Given the description of an element on the screen output the (x, y) to click on. 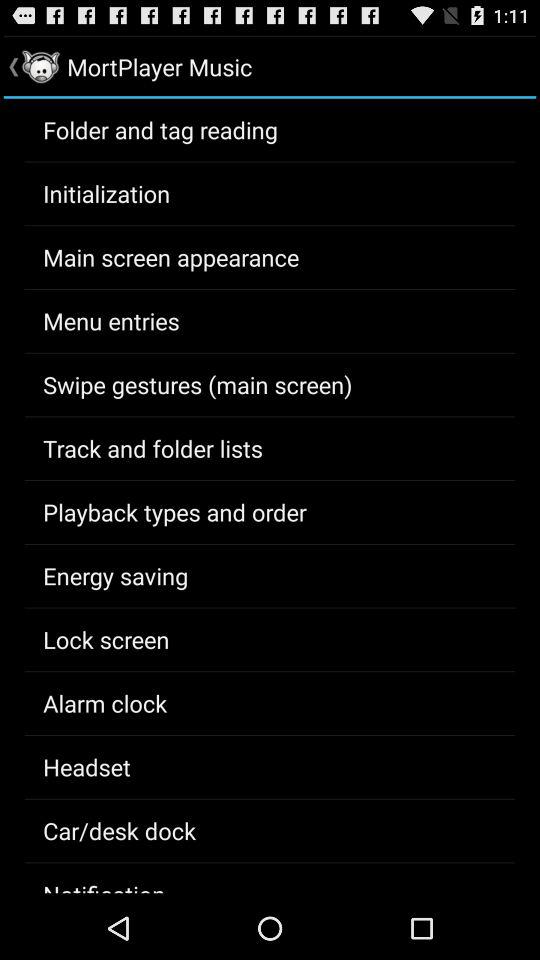
jump to energy saving icon (115, 575)
